Given the description of an element on the screen output the (x, y) to click on. 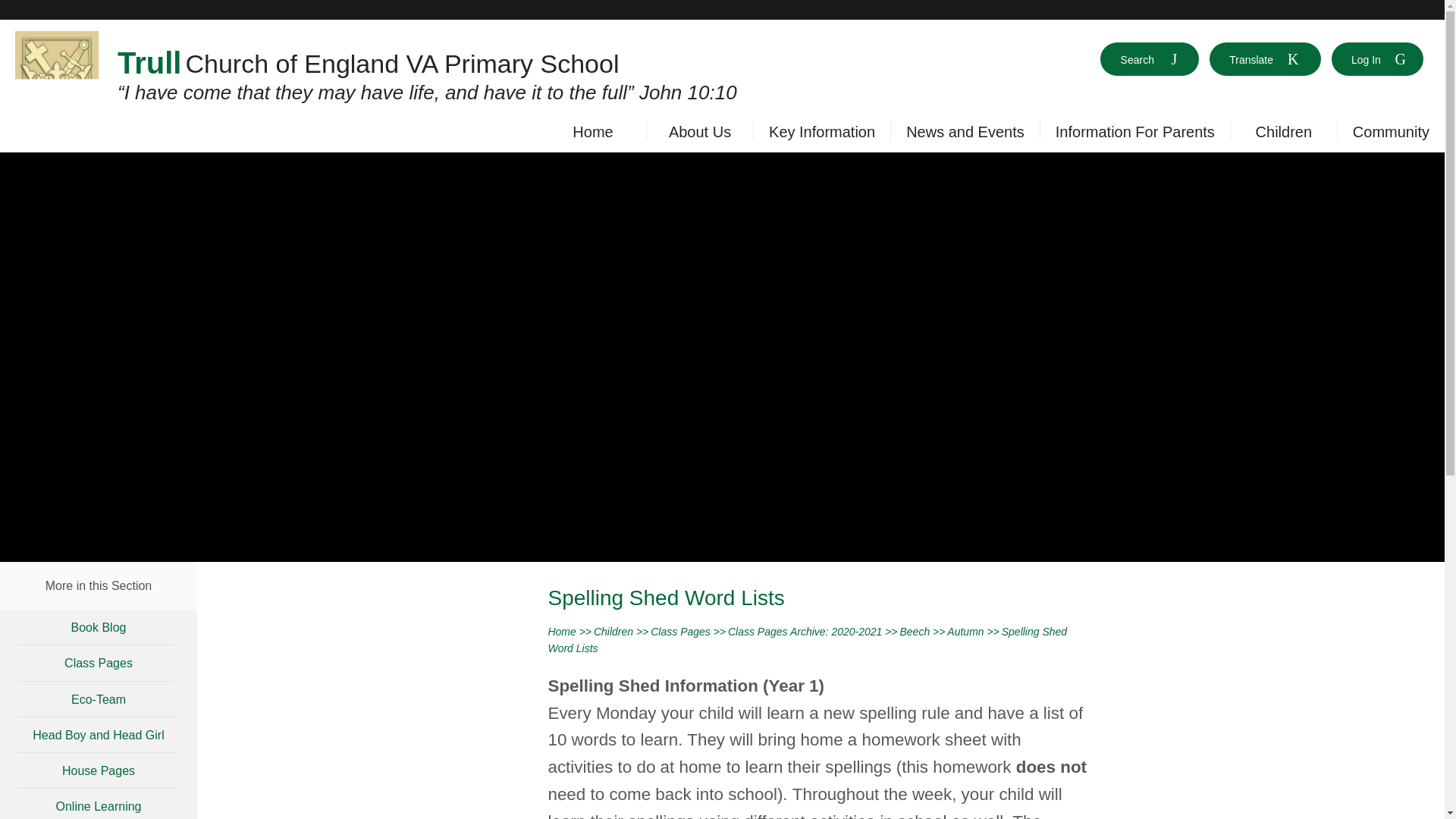
Key Information (821, 133)
News and Events (965, 133)
Information For Parents (1134, 133)
About Us (700, 133)
Home (592, 133)
